Given the description of an element on the screen output the (x, y) to click on. 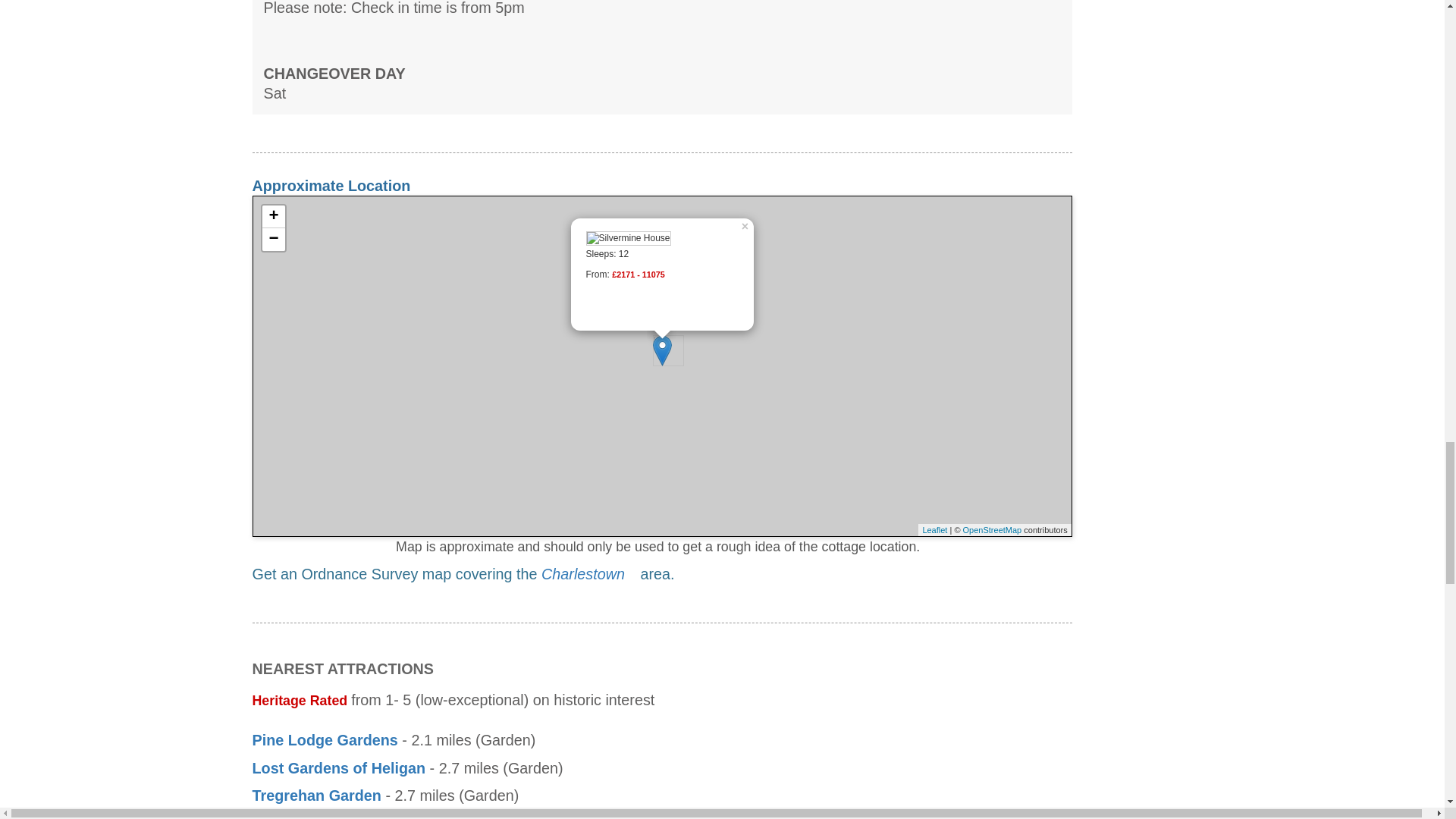
Zoom out (273, 239)
Zoom in (273, 216)
Pine Lodge Gardens, Garden (324, 740)
Lost Gardens of Heligan, Garden (338, 768)
A JS library for interactive maps (934, 529)
Tregrehan Garden, Garden (315, 795)
